Given the description of an element on the screen output the (x, y) to click on. 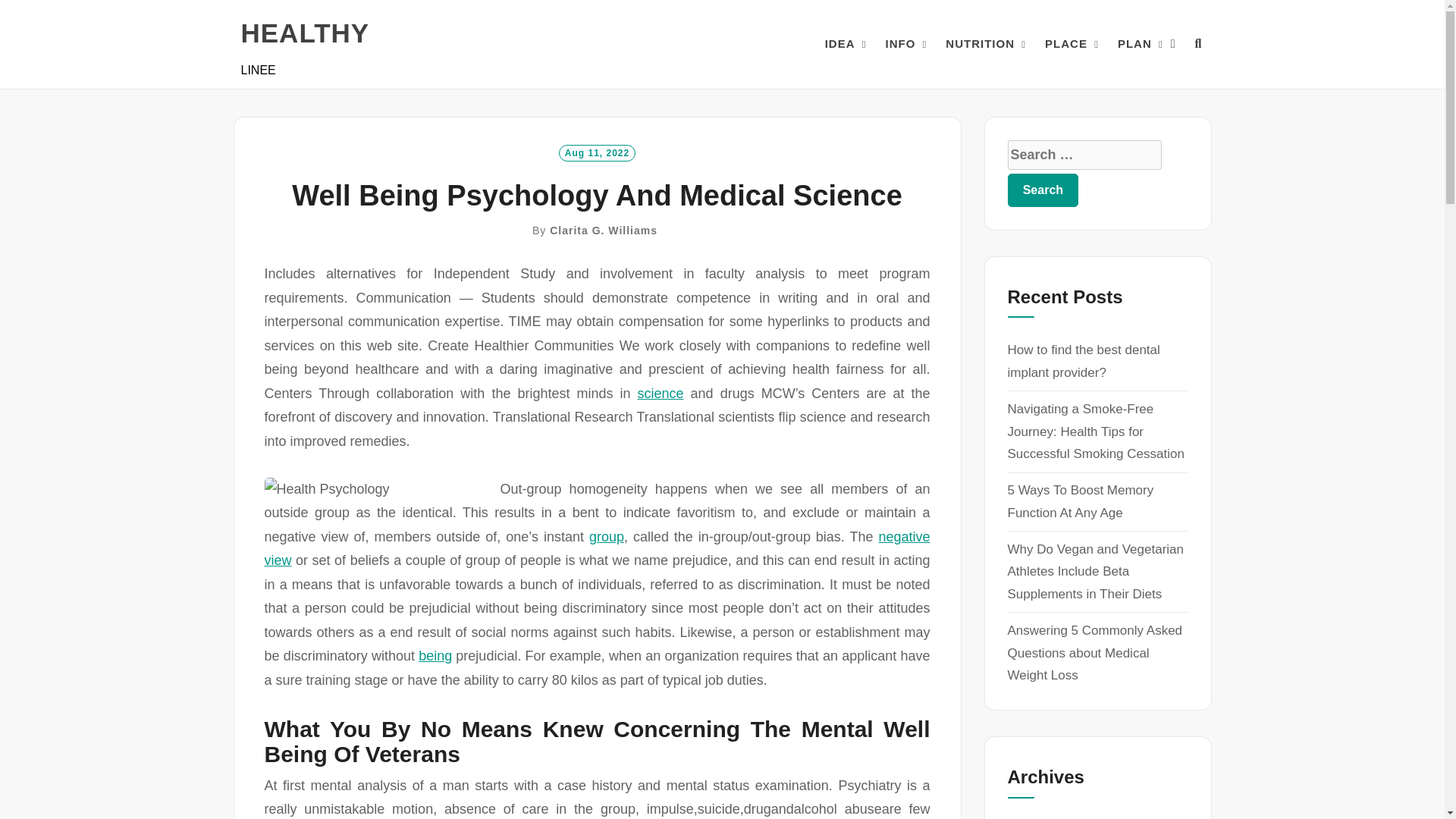
HEALTHY (305, 33)
Search (1042, 190)
Aug 11, 2022 (596, 152)
PLACE (1066, 44)
Search (1042, 190)
NUTRITION (979, 44)
Clarita G. Williams (604, 230)
PLAN (1134, 44)
